Given the description of an element on the screen output the (x, y) to click on. 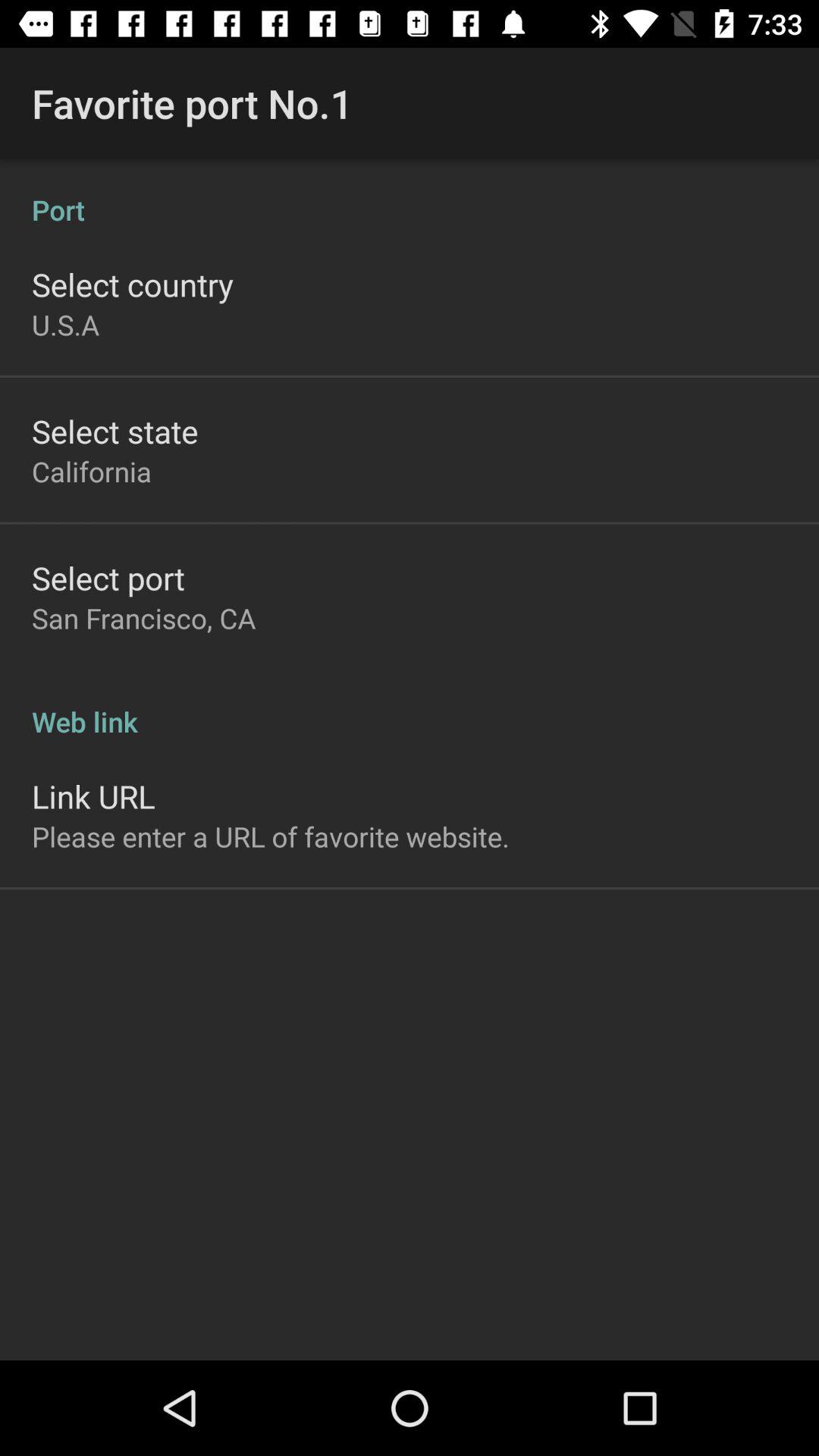
press the web link icon (409, 705)
